Given the description of an element on the screen output the (x, y) to click on. 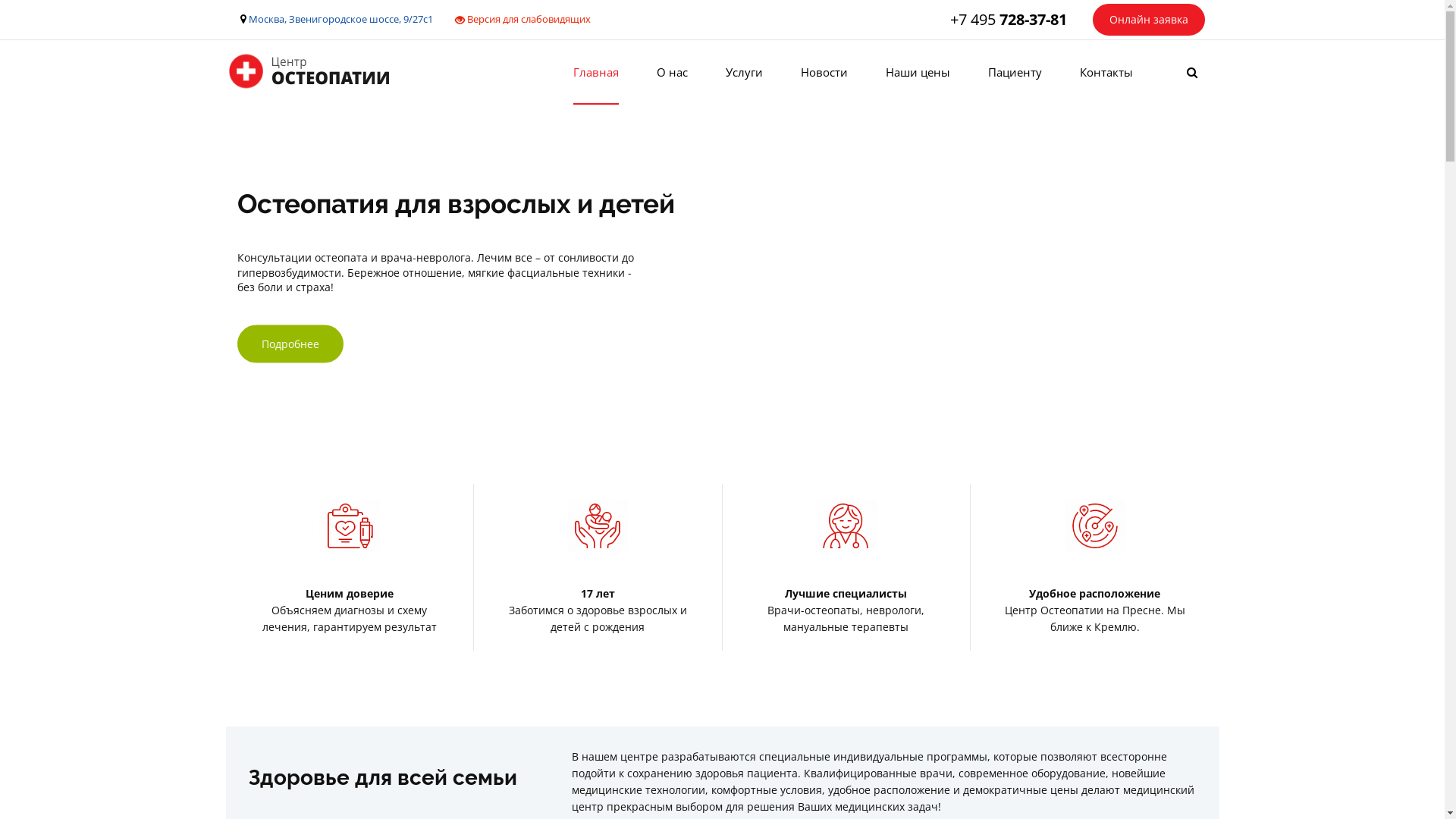
+7 495 728-37-81 Element type: text (1007, 19)
